Given the description of an element on the screen output the (x, y) to click on. 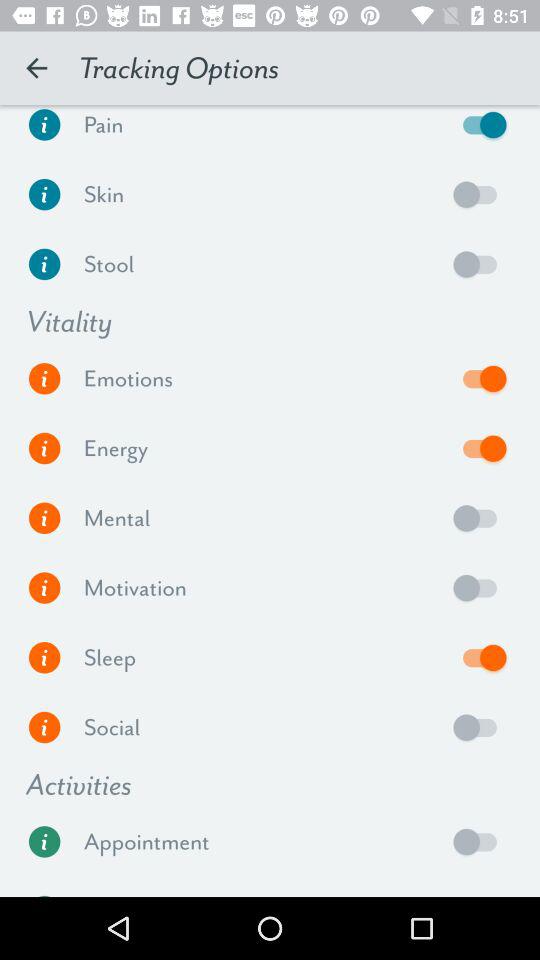
select more informatioon under appointment (44, 841)
